Given the description of an element on the screen output the (x, y) to click on. 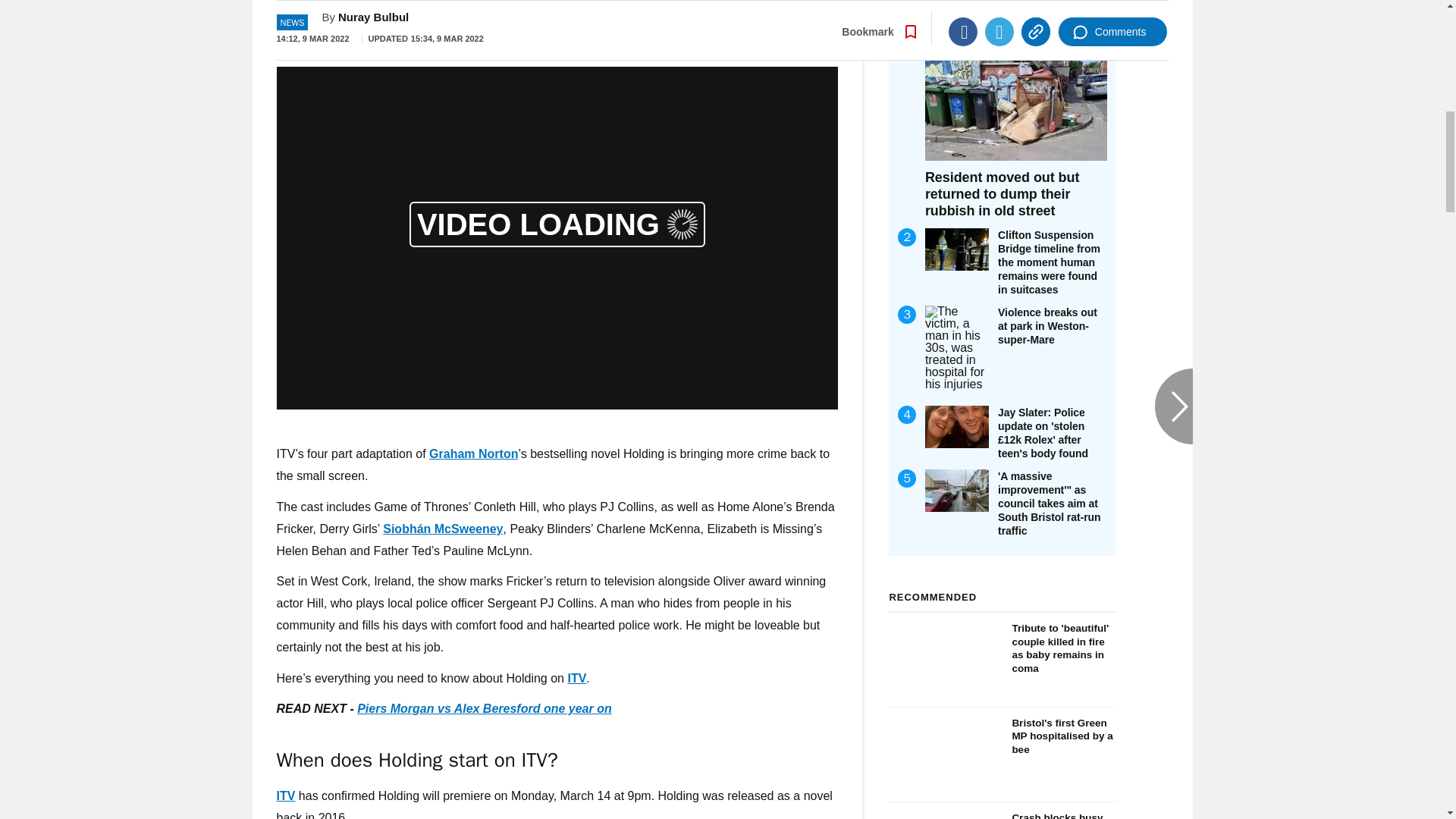
Go (730, 17)
